Given the description of an element on the screen output the (x, y) to click on. 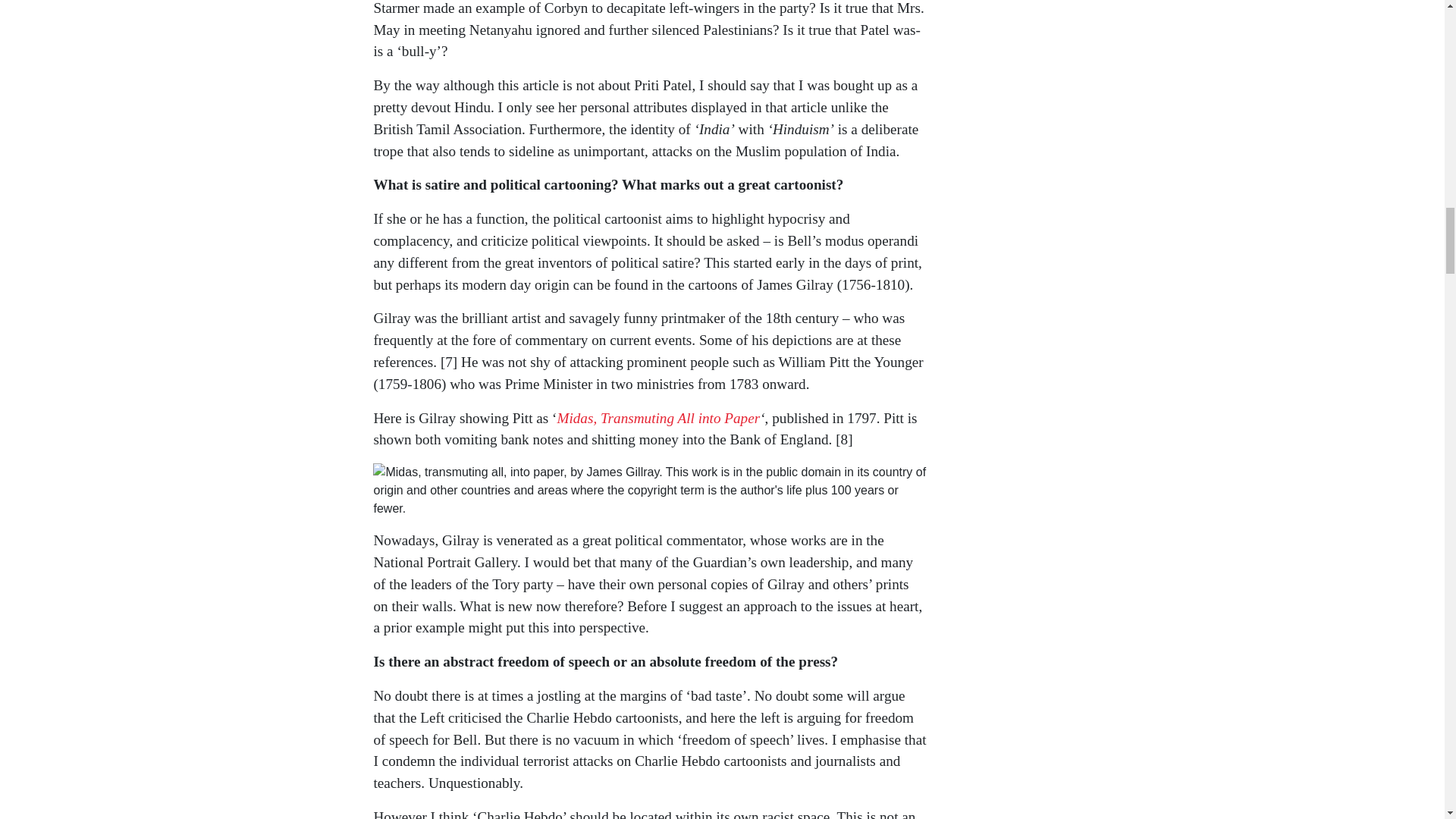
Midas, Transmuting All into Paper (658, 417)
